Given the description of an element on the screen output the (x, y) to click on. 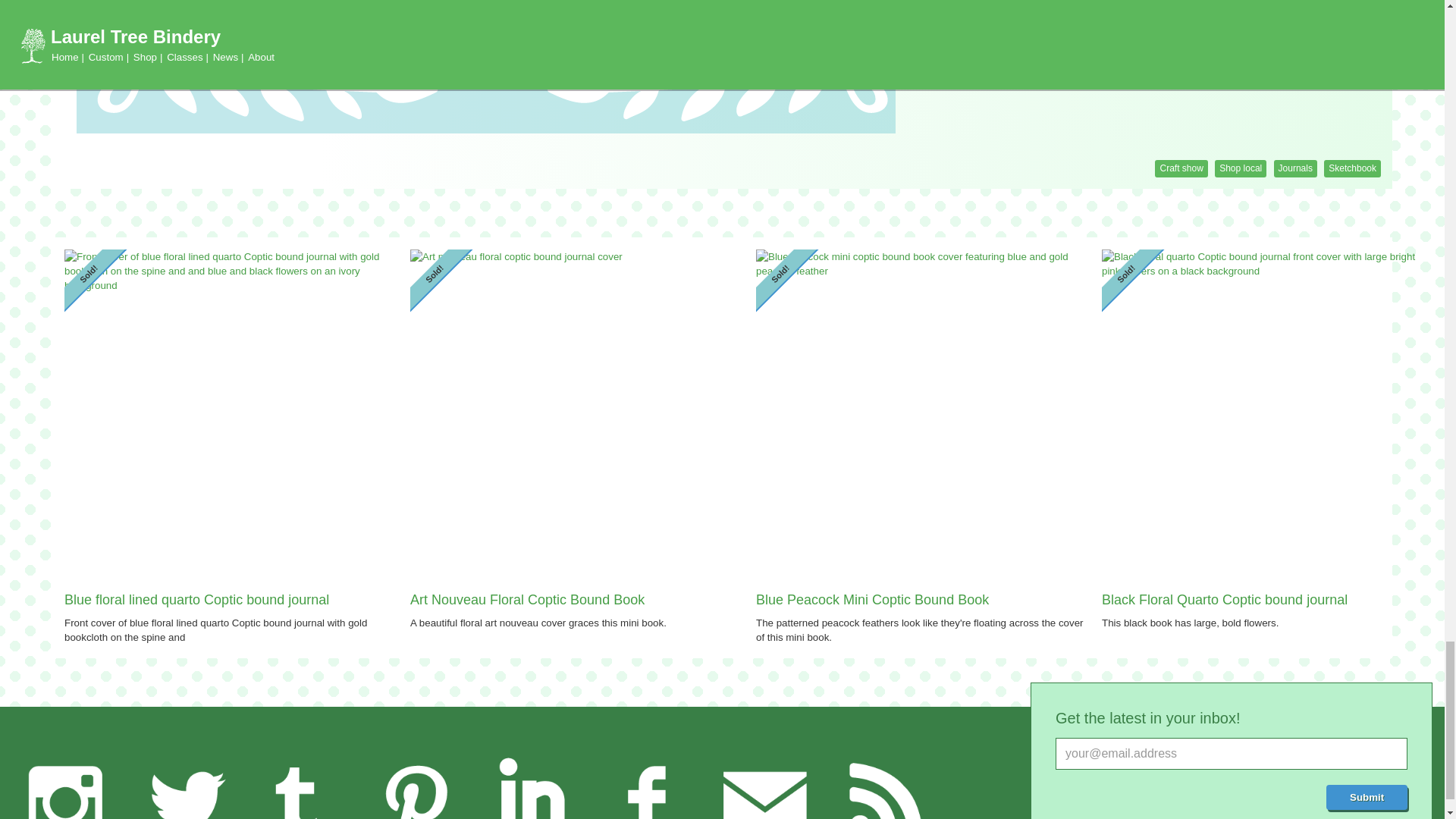
Submit (1366, 796)
FEEDBACK (765, 780)
Journals (1295, 168)
Shop local (1240, 168)
RSS FEED (880, 780)
TWITTER (182, 780)
Blue floral lined quarto Coptic bound journal (230, 600)
FACEBOOK (647, 780)
Black Floral Quarto Coptic bound journal (1268, 600)
Craft show (1180, 168)
Art Nouveau Floral Coptic Bound Book (577, 600)
PINTEREST (415, 780)
LINKEDIN (531, 780)
INSTAGRAM (65, 780)
TUMBLR (298, 780)
